Given the description of an element on the screen output the (x, y) to click on. 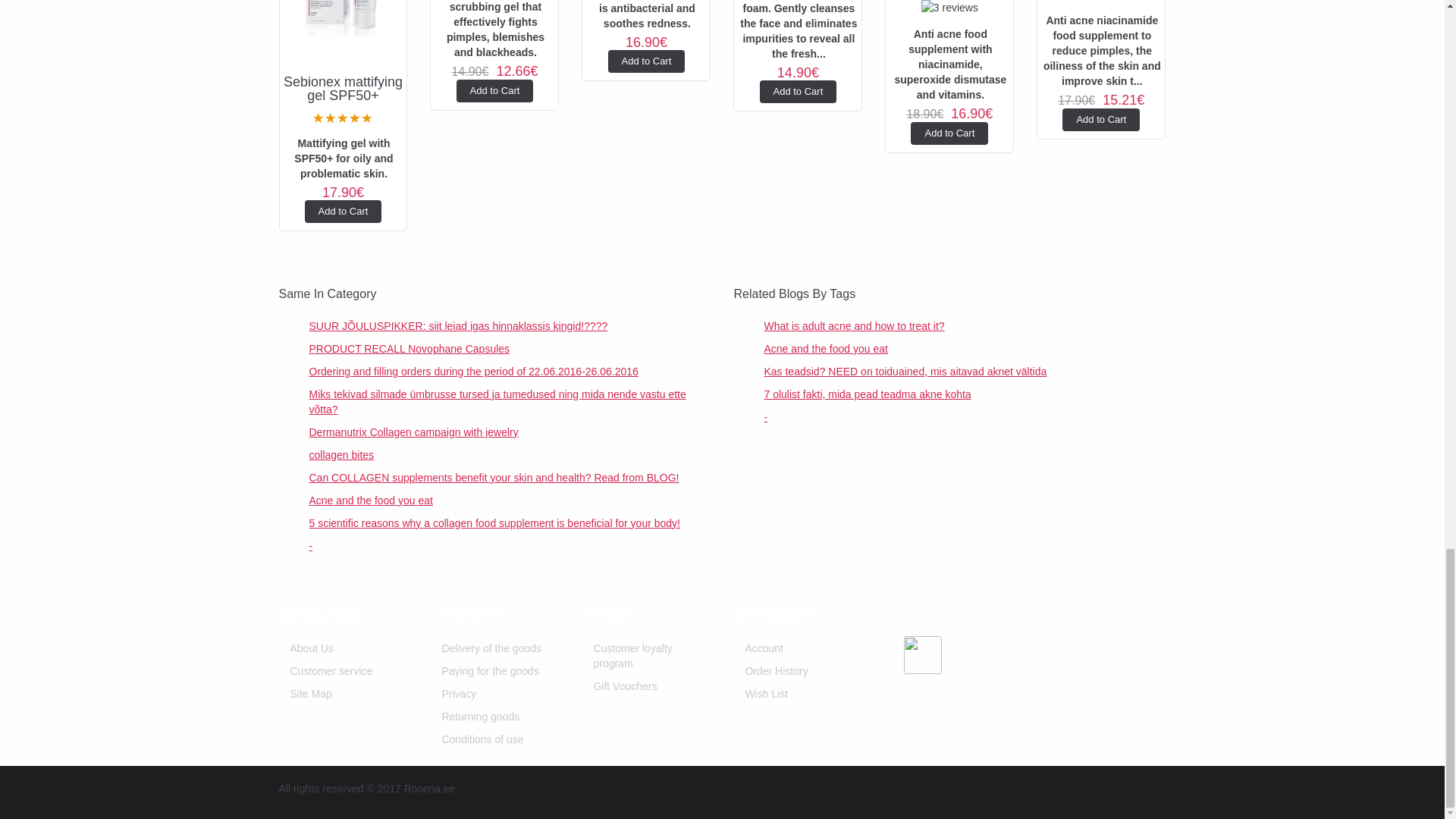
Add to Cart (798, 91)
Add to Cart (949, 133)
Add to Cart (1101, 119)
Add to Cart (495, 90)
Add to Cart (646, 60)
Add to Cart (342, 210)
